Given the description of an element on the screen output the (x, y) to click on. 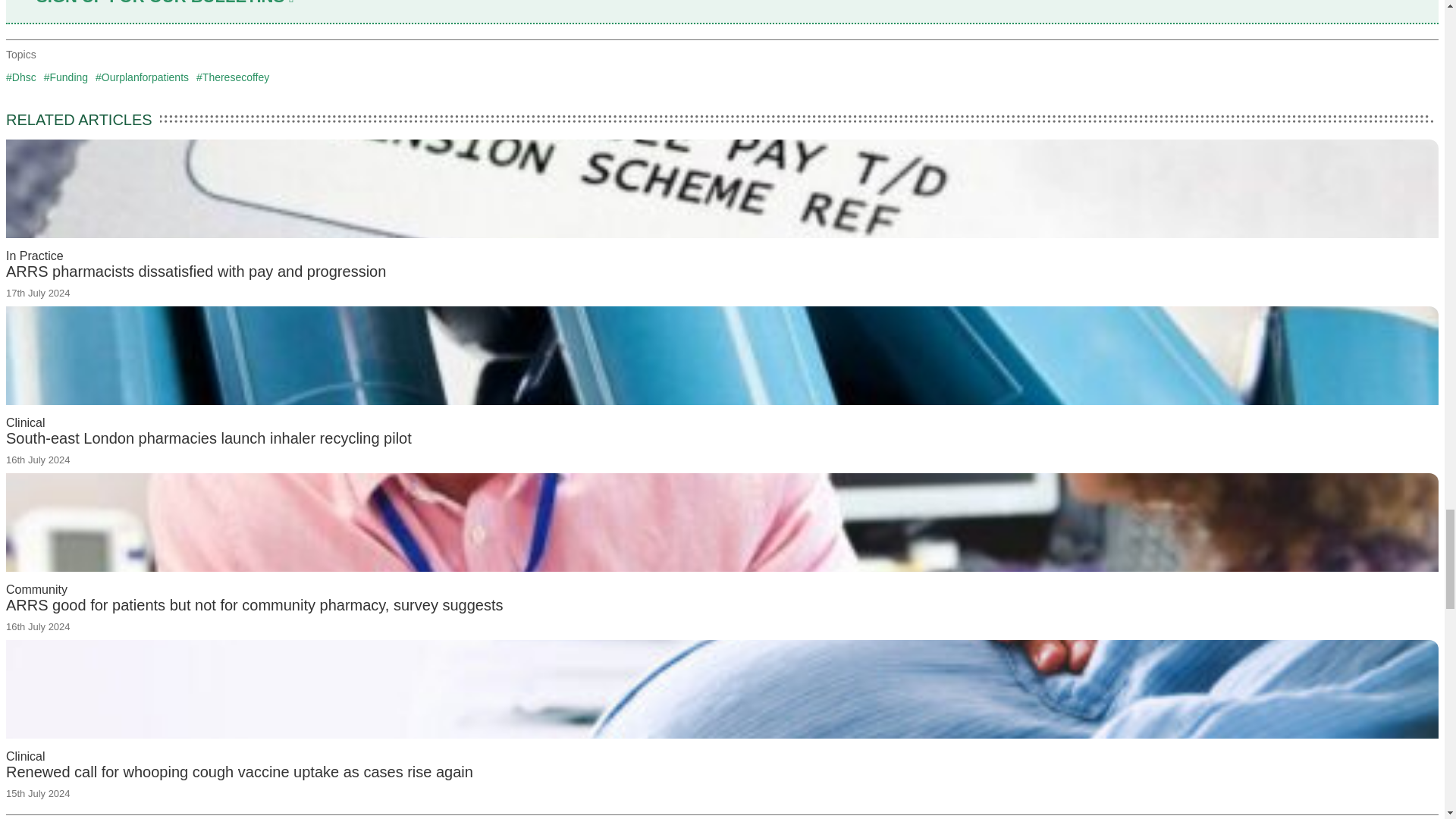
View more for therese coffey (232, 77)
View more for funding (65, 77)
ARRS pharmacists dissatisfied with pay and progression (195, 271)
Sign up for our bulletins (165, 2)
View more for dhsc (20, 77)
View more for Our plan for patients (142, 77)
South-east London pharmacies launch inhaler recycling pilot (208, 437)
